Given the description of an element on the screen output the (x, y) to click on. 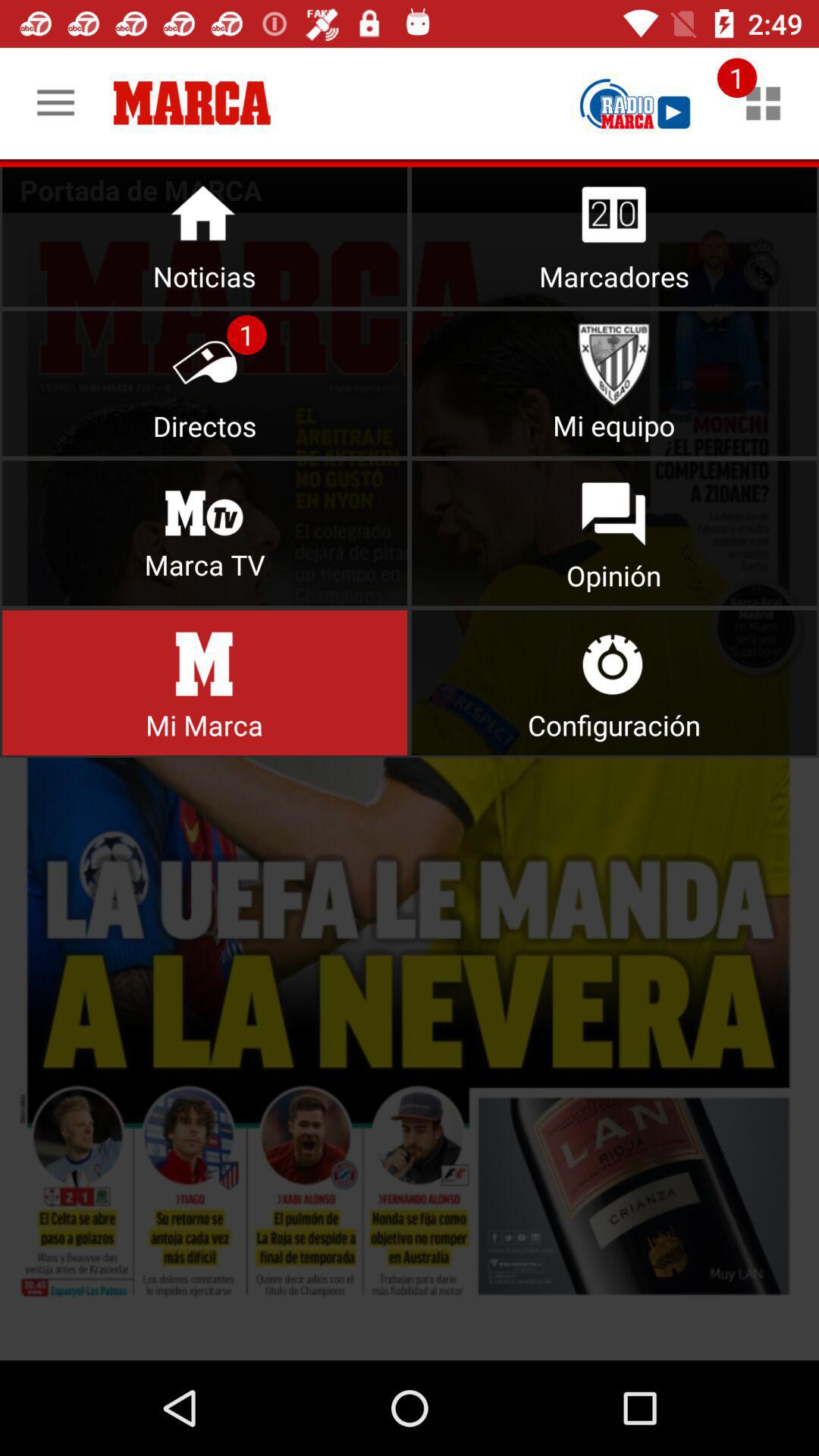
talk to other uses (614, 532)
